Given the description of an element on the screen output the (x, y) to click on. 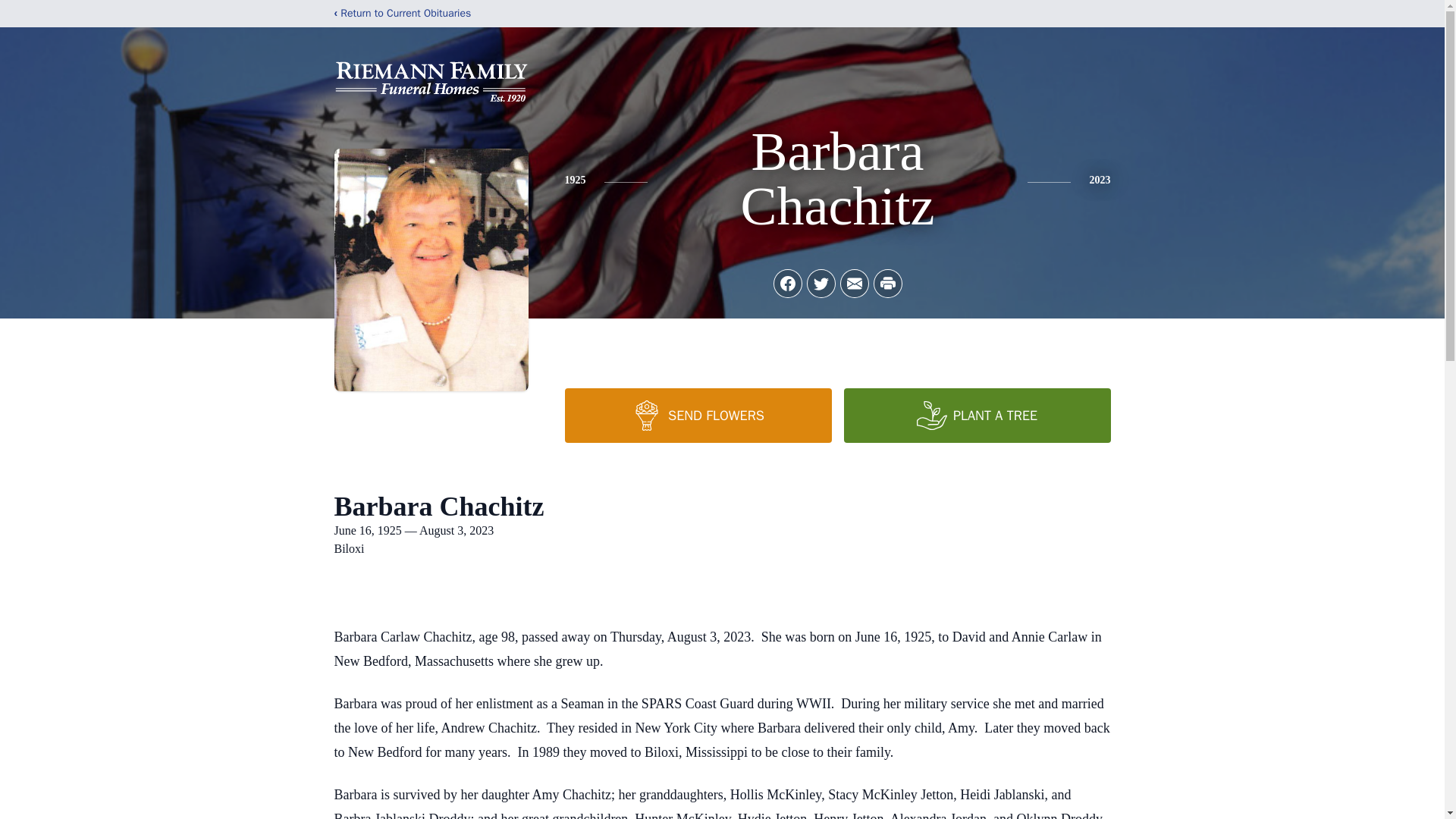
PLANT A TREE (976, 415)
SEND FLOWERS (697, 415)
